Given the description of an element on the screen output the (x, y) to click on. 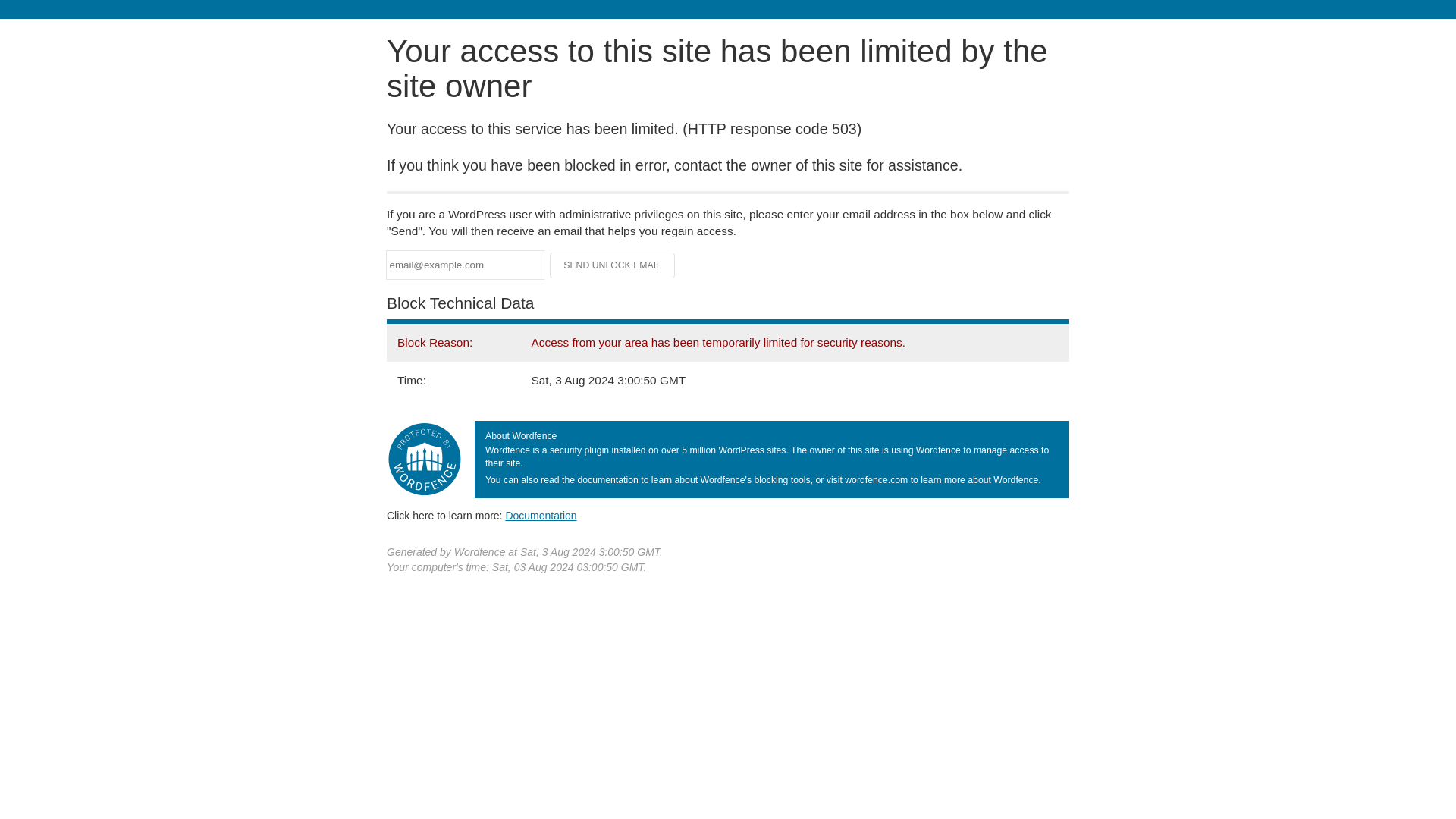
Documentation (540, 515)
Send Unlock Email (612, 265)
Send Unlock Email (612, 265)
